Given the description of an element on the screen output the (x, y) to click on. 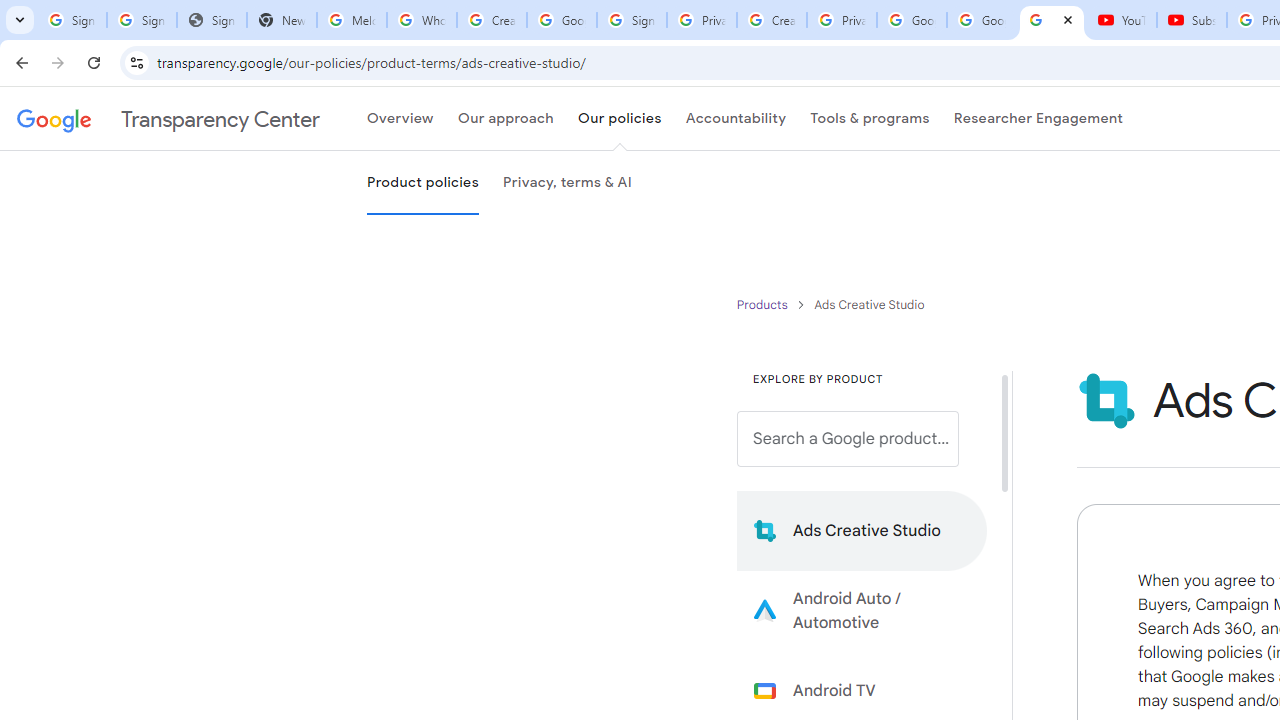
Transparency Center (167, 119)
Our policies (619, 119)
Search a Google product from below list. (847, 439)
Learn more about Android Auto (862, 610)
Privacy, terms & AI (567, 183)
Create your Google Account (492, 20)
